Given the description of an element on the screen output the (x, y) to click on. 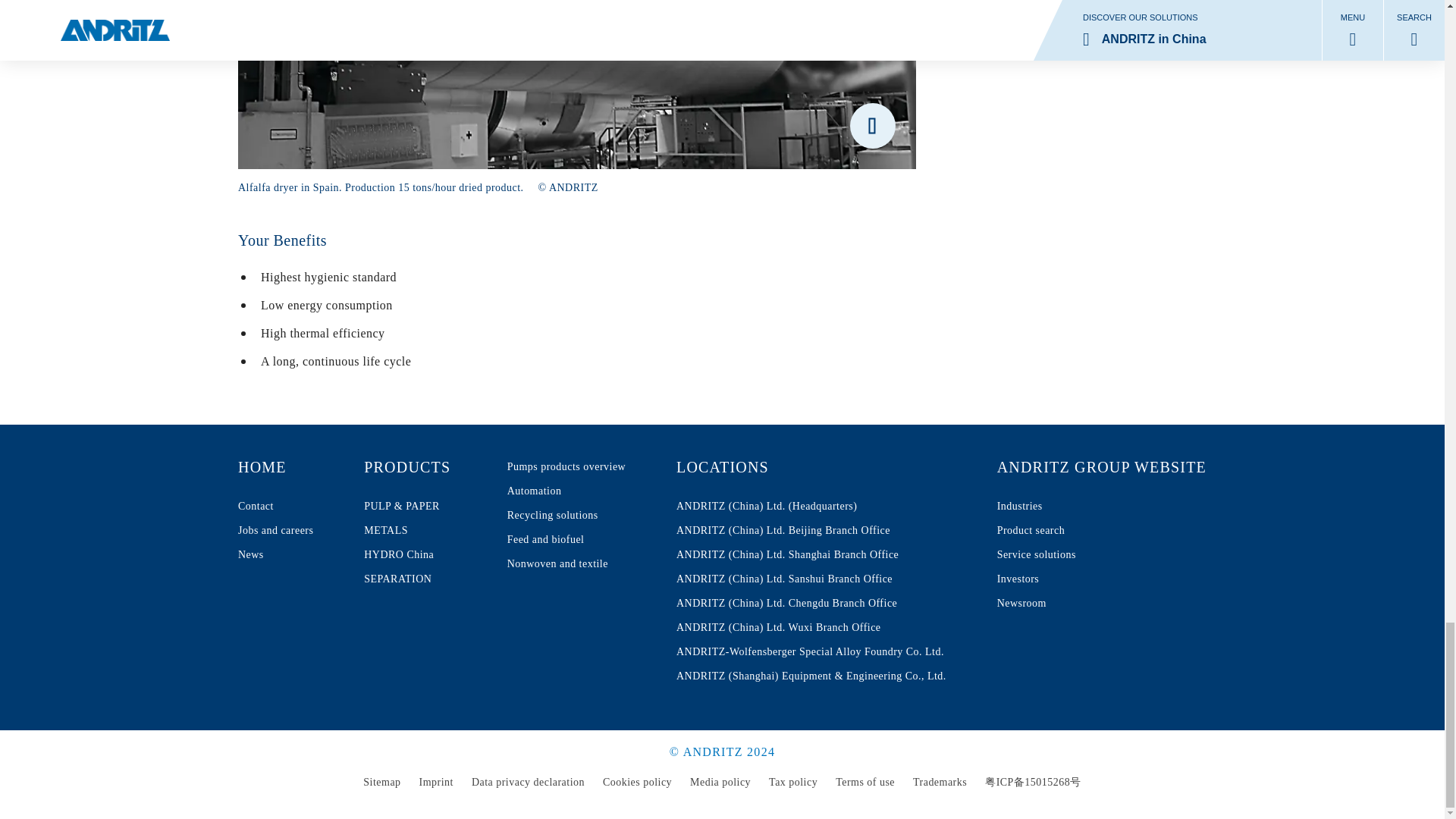
HYDRO China (422, 554)
Jobs and careers (275, 530)
se-gouda-drum-dryer-vdb (576, 84)
Contact (275, 506)
SEPARATION (422, 554)
News (422, 579)
Feed and biofuel (275, 554)
Pumps products overview (566, 539)
Recycling solutions (566, 467)
HOME (275, 506)
